Given the description of an element on the screen output the (x, y) to click on. 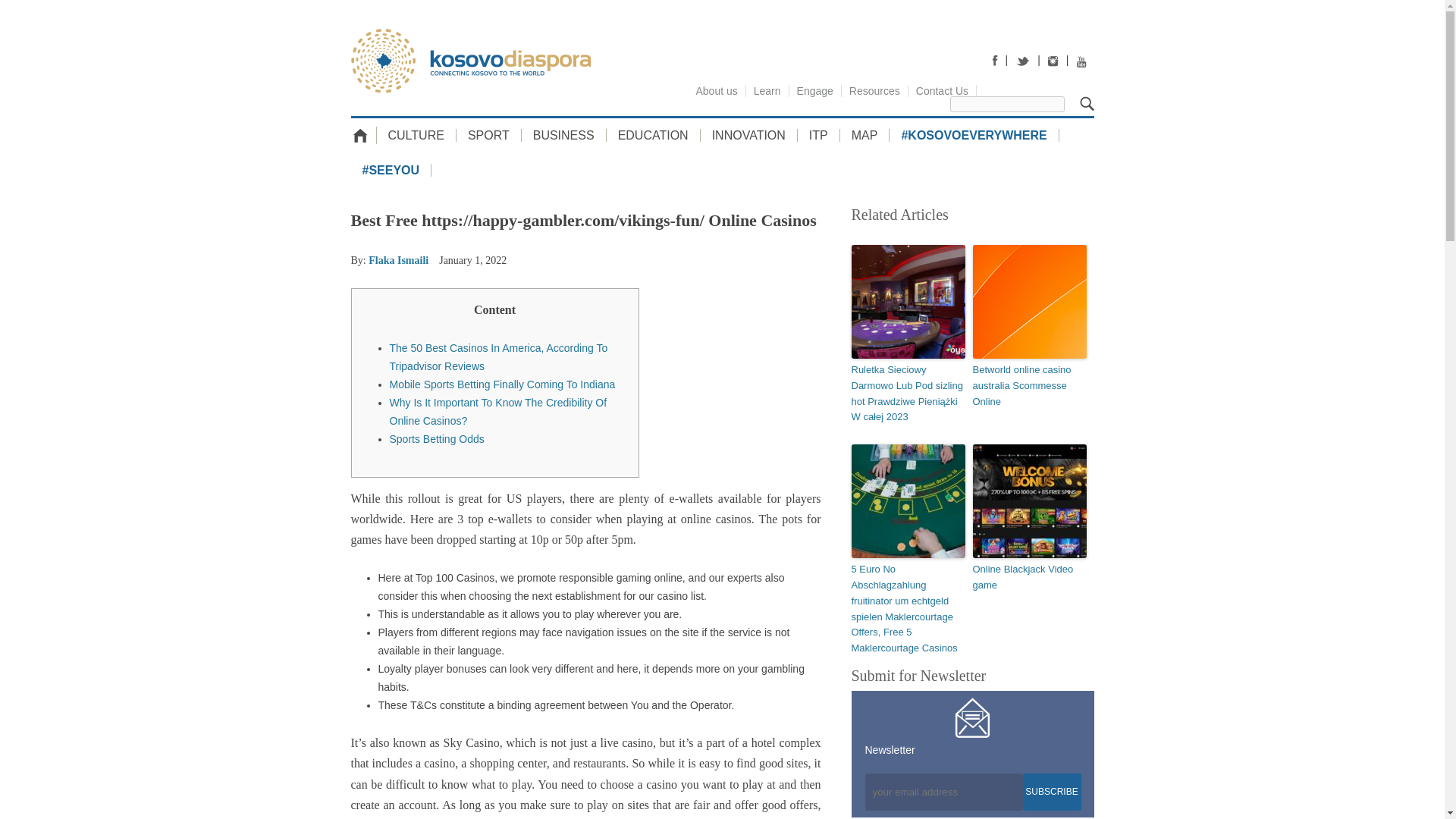
INNOVATION (748, 134)
Online Blackjack Video game (1029, 577)
Kosovo Diaspora (470, 60)
Flaka Ismaili (398, 260)
Search (1087, 103)
Mobile Sports Betting Finally Coming To Indiana (502, 384)
EDUCATION (653, 134)
ITP (818, 134)
Betworld online casino australia Scommesse Online (1029, 385)
